Given the description of an element on the screen output the (x, y) to click on. 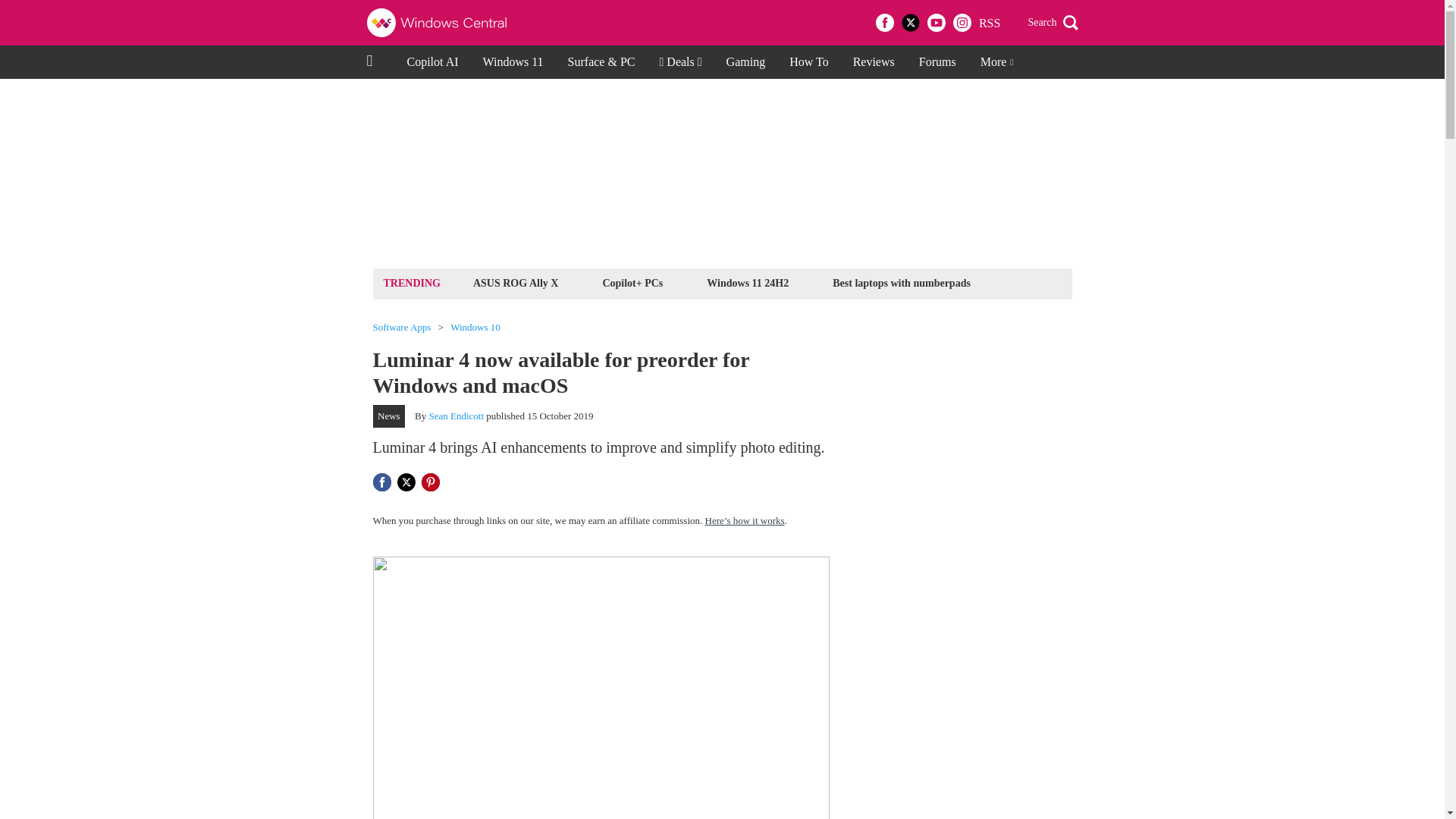
Windows 10 (474, 327)
Copilot AI (432, 61)
Best laptops with numberpads (901, 282)
Sean Endicott (456, 415)
Windows 11 (513, 61)
Software Apps (401, 327)
ASUS ROG Ally X (515, 282)
Windows 11 24H2 (747, 282)
News (389, 415)
RSS (989, 22)
How To (808, 61)
Gaming (745, 61)
Forums (937, 61)
Reviews (874, 61)
